Given the description of an element on the screen output the (x, y) to click on. 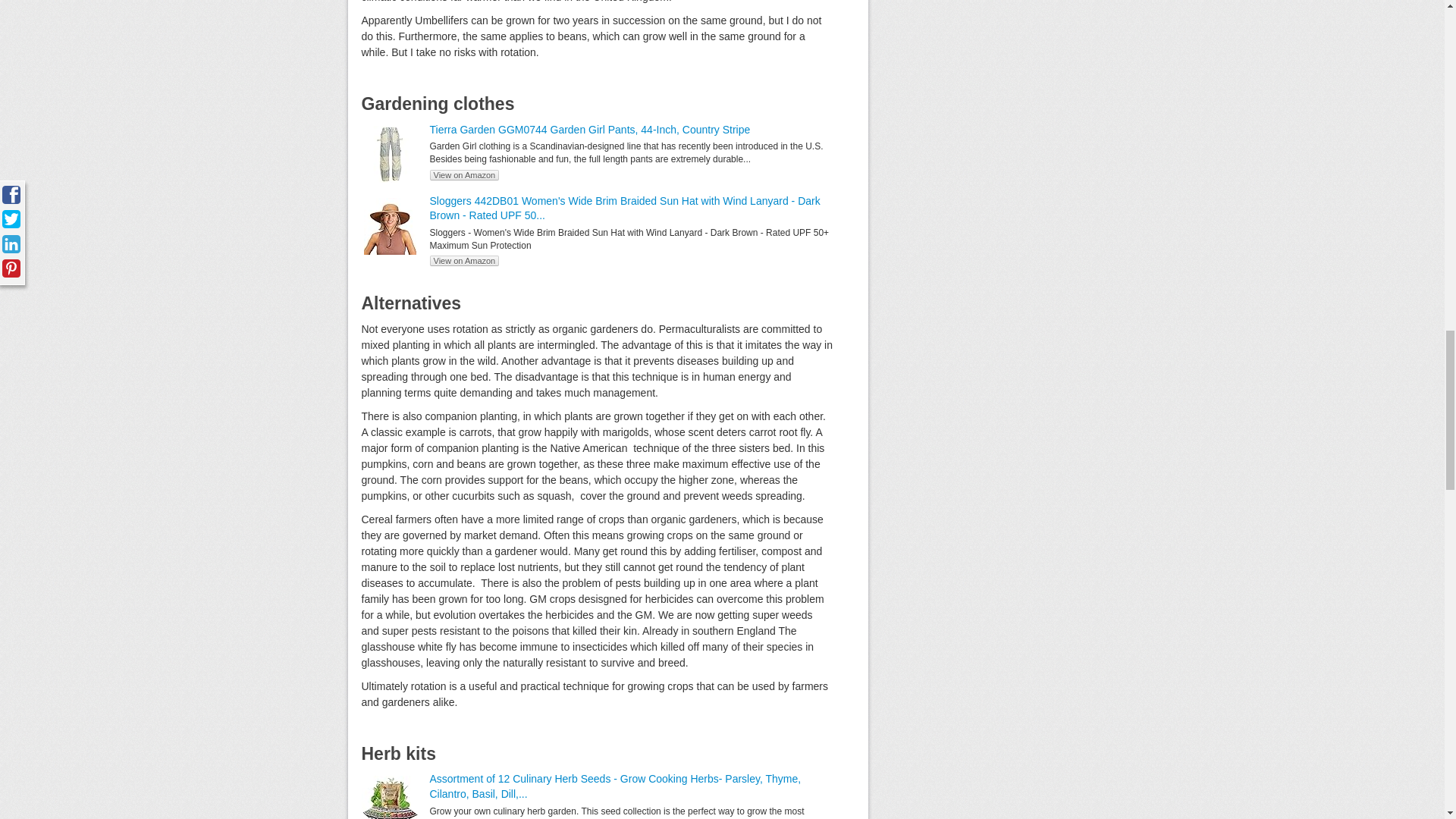
View on Amazon (464, 260)
View on Amazon (464, 174)
